Given the description of an element on the screen output the (x, y) to click on. 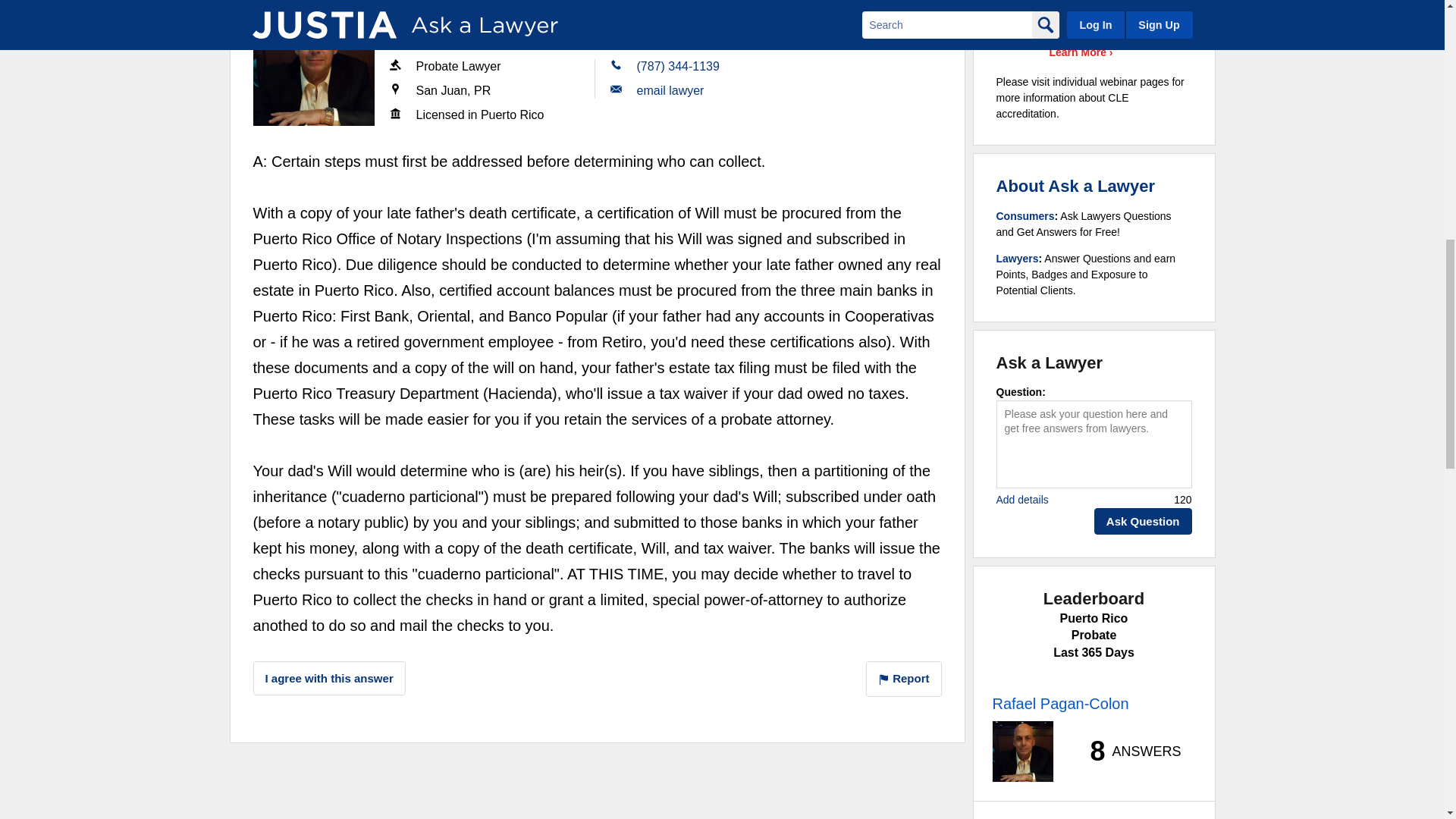
Ask a Lawyer - FAQs - Consumers (1024, 215)
Ask a Lawyer - Leaderboard - Lawyer Photo (1021, 751)
Rafael  Pagan-Colon (313, 65)
Ask a Lawyer - Leaderboard - Lawyer Name (1059, 703)
Ask a Lawyer - FAQs - Lawyers (1017, 258)
Ask a Lawyer - Leaderboard - Lawyer Stats (1127, 750)
